Given the description of an element on the screen output the (x, y) to click on. 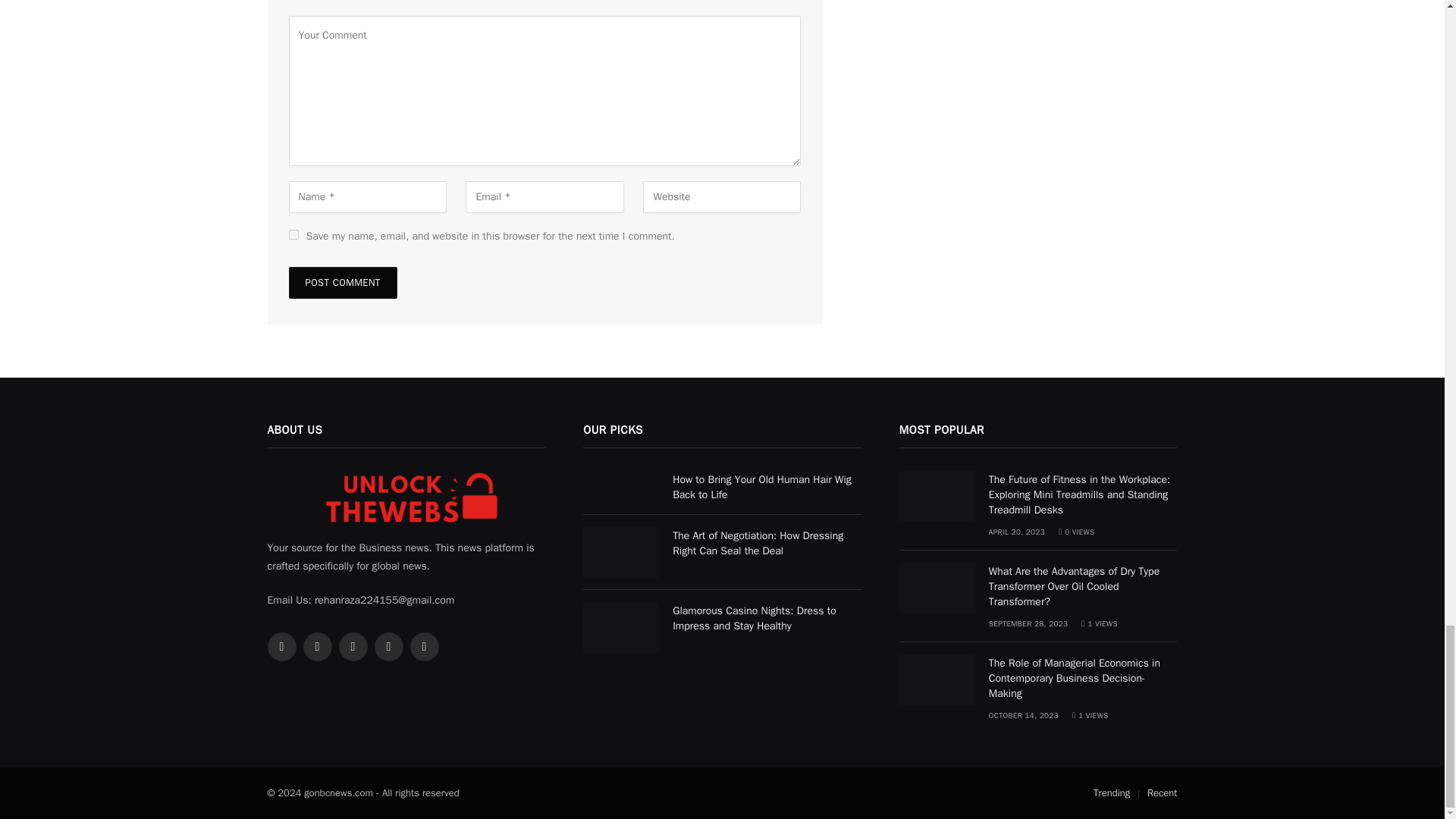
Post Comment (342, 282)
yes (293, 234)
